Given the description of an element on the screen output the (x, y) to click on. 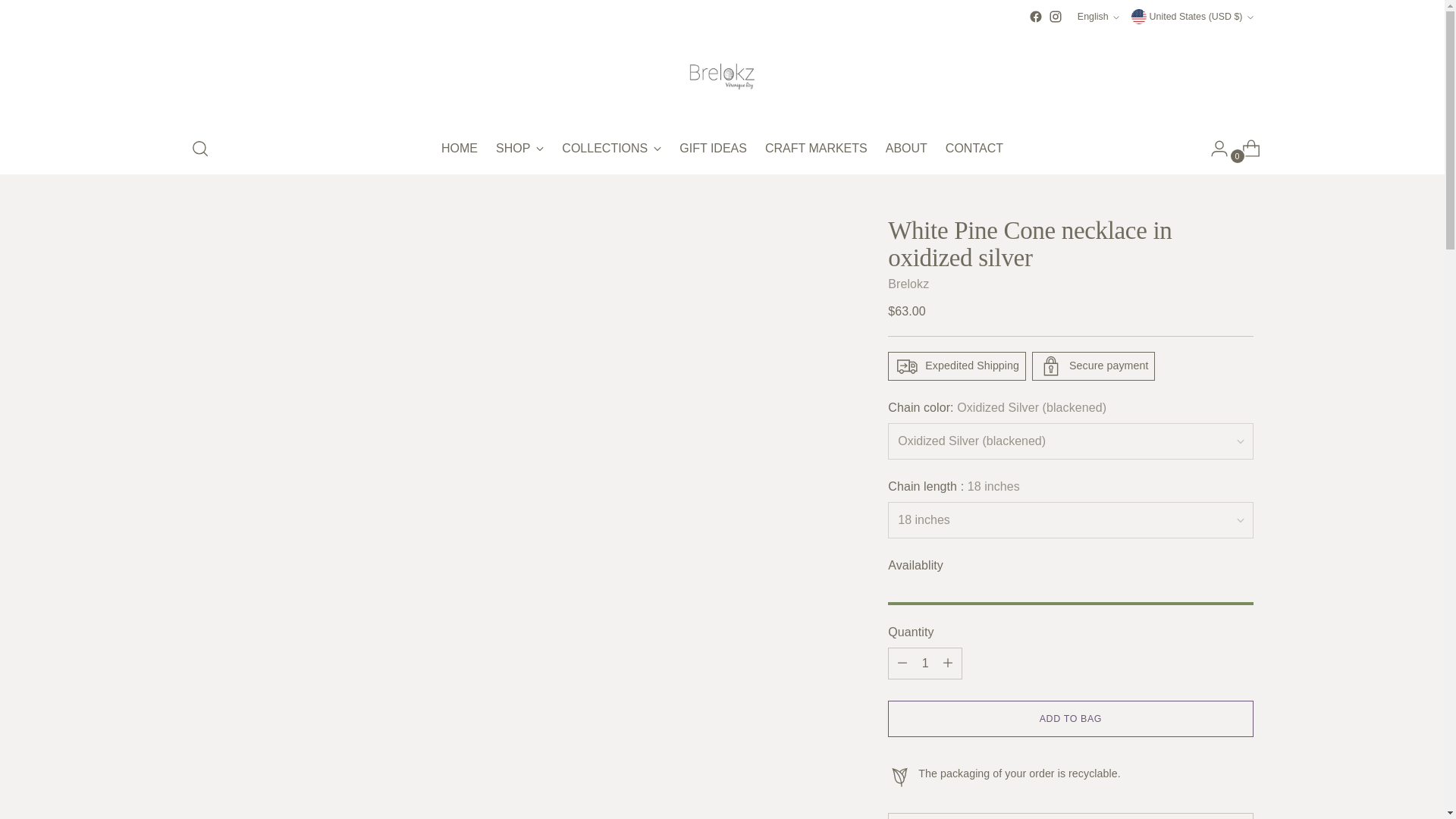
Brelokz (908, 283)
HOME (722, 148)
Brelokz  on Instagram (459, 148)
English (1055, 16)
1 (1098, 16)
SHOP (925, 663)
Brelokz  on Facebook (519, 148)
